Given the description of an element on the screen output the (x, y) to click on. 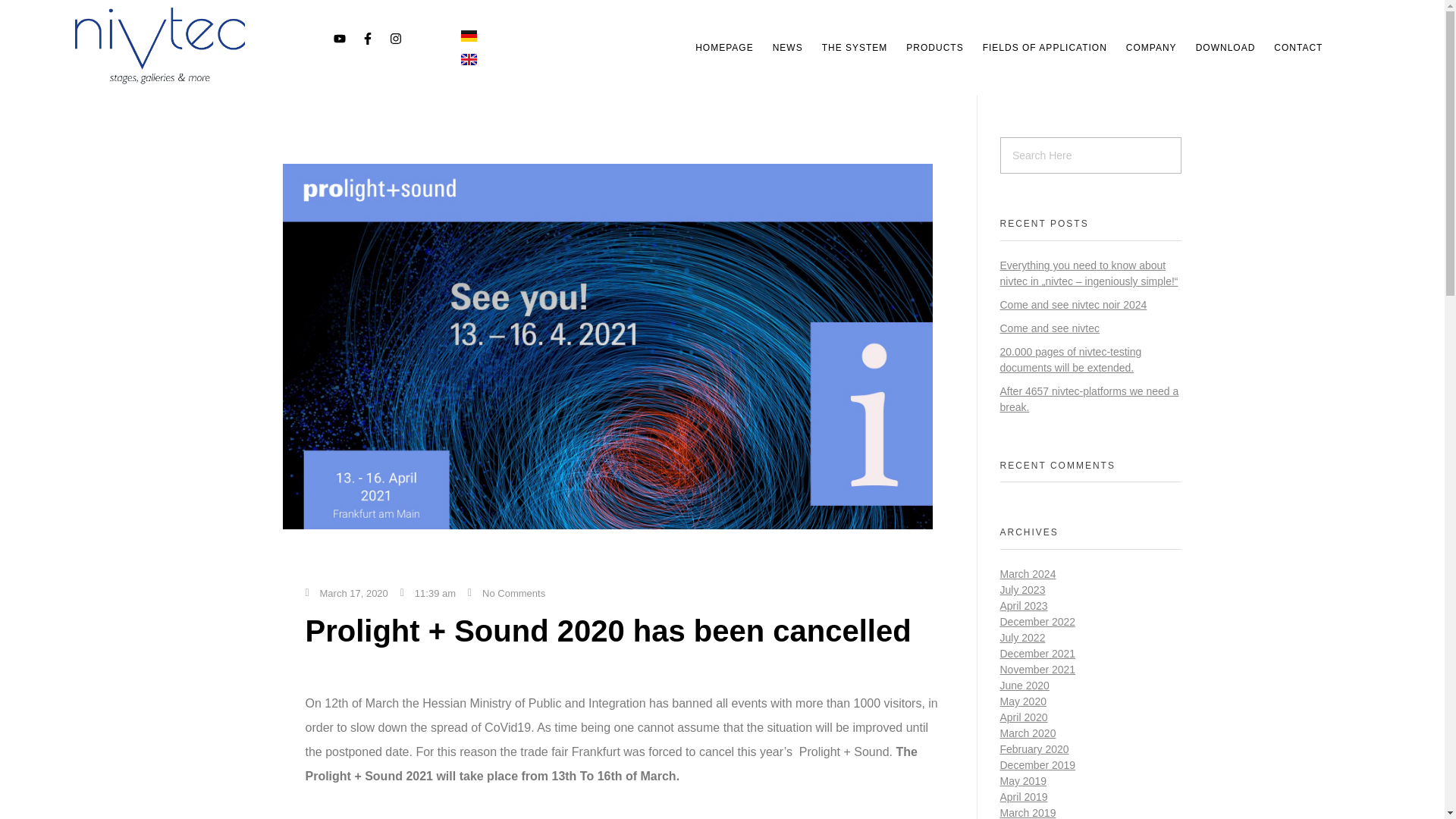
PRODUCTS (933, 47)
COMPANY (1150, 47)
CONTACT (1298, 47)
HOMEPAGE (723, 47)
FIELDS OF APPLICATION (1044, 47)
DOWNLOAD (1225, 47)
THE SYSTEM (855, 47)
